Given the description of an element on the screen output the (x, y) to click on. 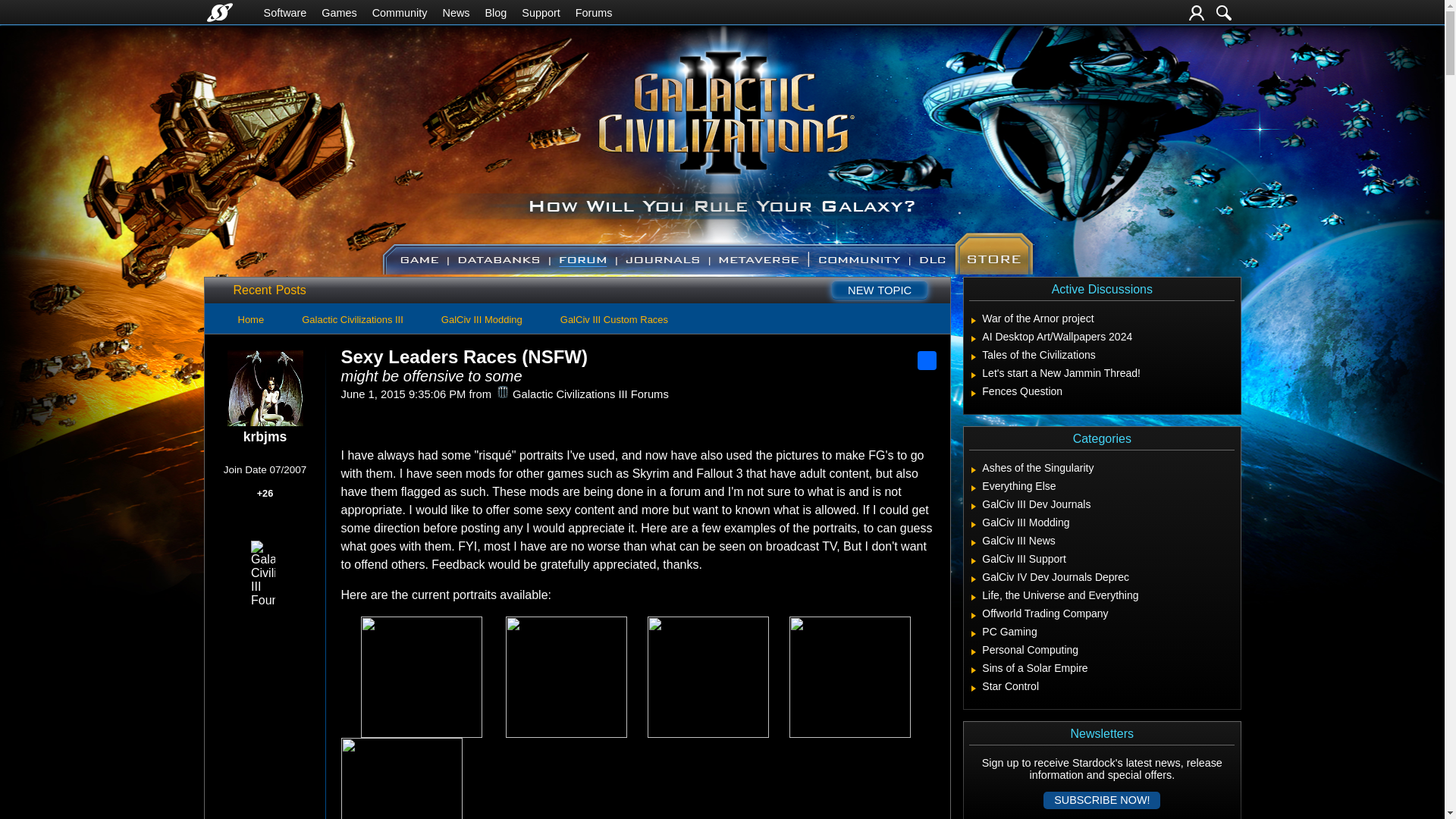
Login or Create Account (1196, 11)
Active Commenter - Replied over 100 times (247, 514)
Liked - Received 5 Total Karma (254, 530)
Galactic Civilizations III Founder (262, 573)
Search Forums (1223, 11)
Rank: 1 (264, 455)
Stardock Home (218, 12)
Click user name to view more options. (264, 437)
Aura - Gave 5 Karma (279, 514)
View krbjms's Karma (264, 496)
View all awards (271, 530)
Galactic Civilizations III Forums (502, 391)
Novice Poster - Created 5 Posts (294, 514)
